Given the description of an element on the screen output the (x, y) to click on. 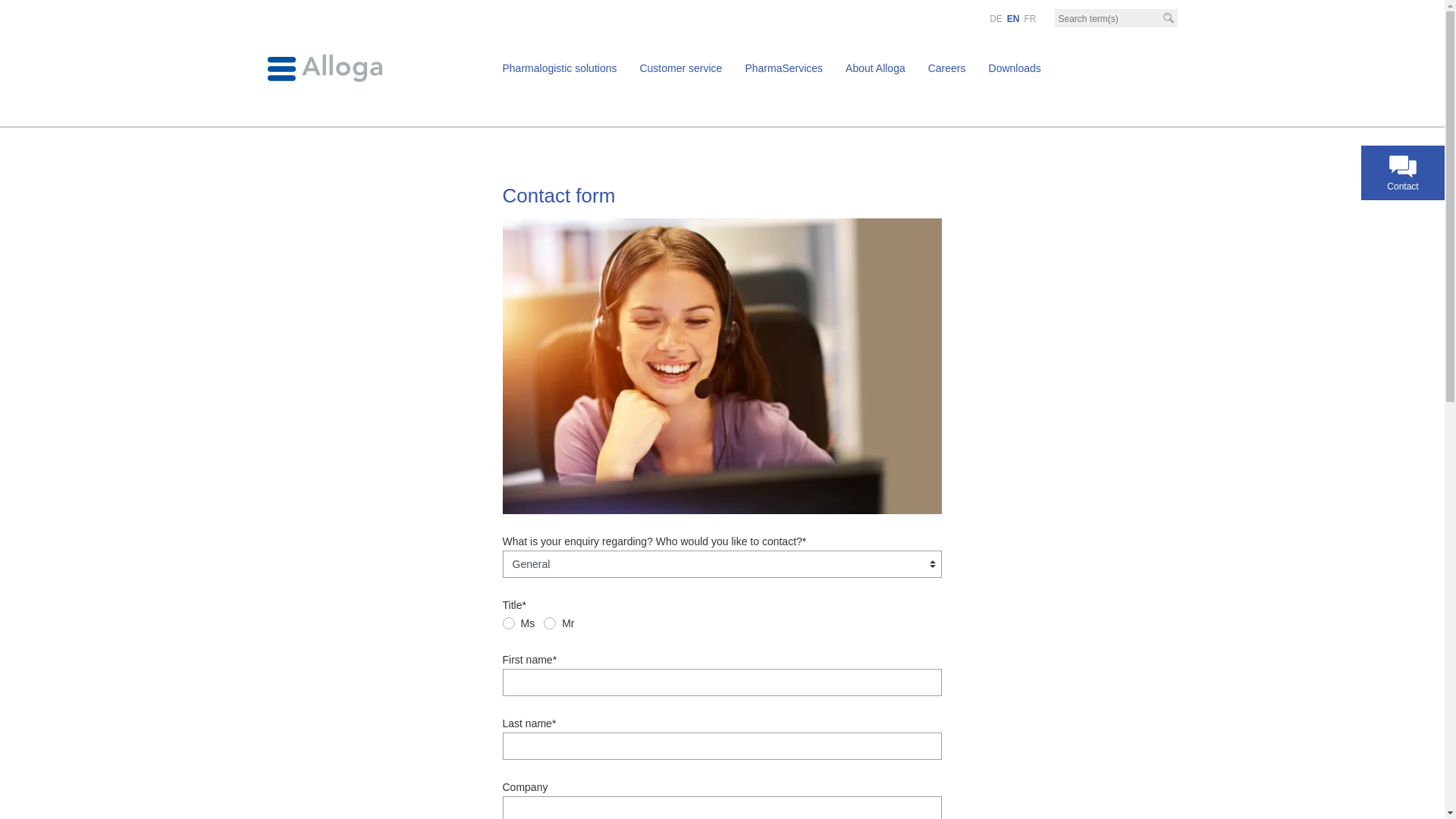
DE Element type: text (995, 18)
Downloads Element type: text (1014, 68)
About Alloga Element type: text (875, 68)
Contact Element type: text (1402, 172)
PharmaServices Element type: text (783, 68)
Alloga AG - Back to the startpage Element type: hover (324, 67)
EN Element type: text (1013, 18)
FR Element type: text (1029, 18)
Customer service Element type: text (680, 68)
Careers Element type: text (947, 68)
Pharmalogistic solutions Element type: text (559, 68)
[Accesskey + 0]
Home Element type: text (8, 6)
